Given the description of an element on the screen output the (x, y) to click on. 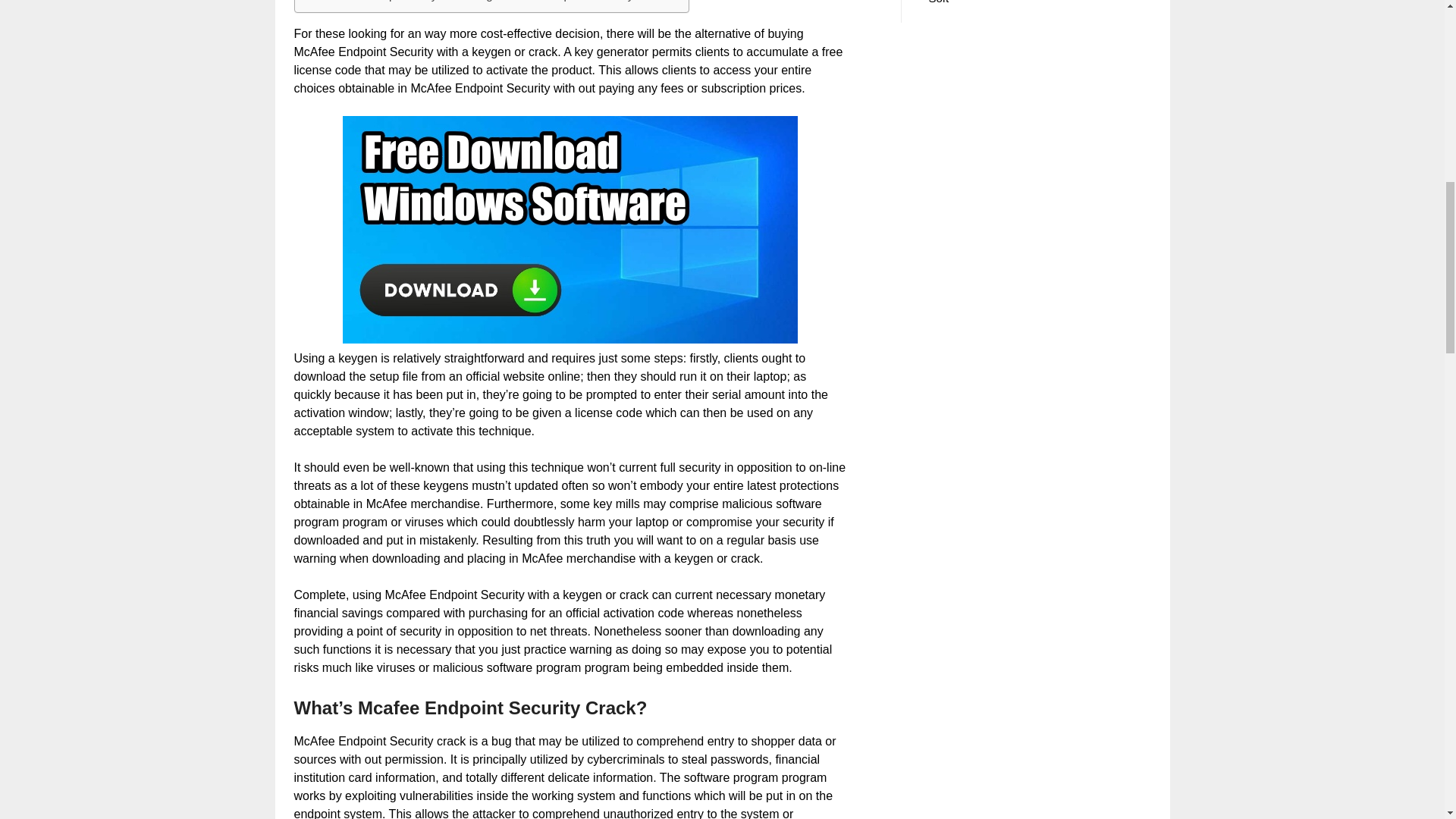
Soft (938, 2)
